Given the description of an element on the screen output the (x, y) to click on. 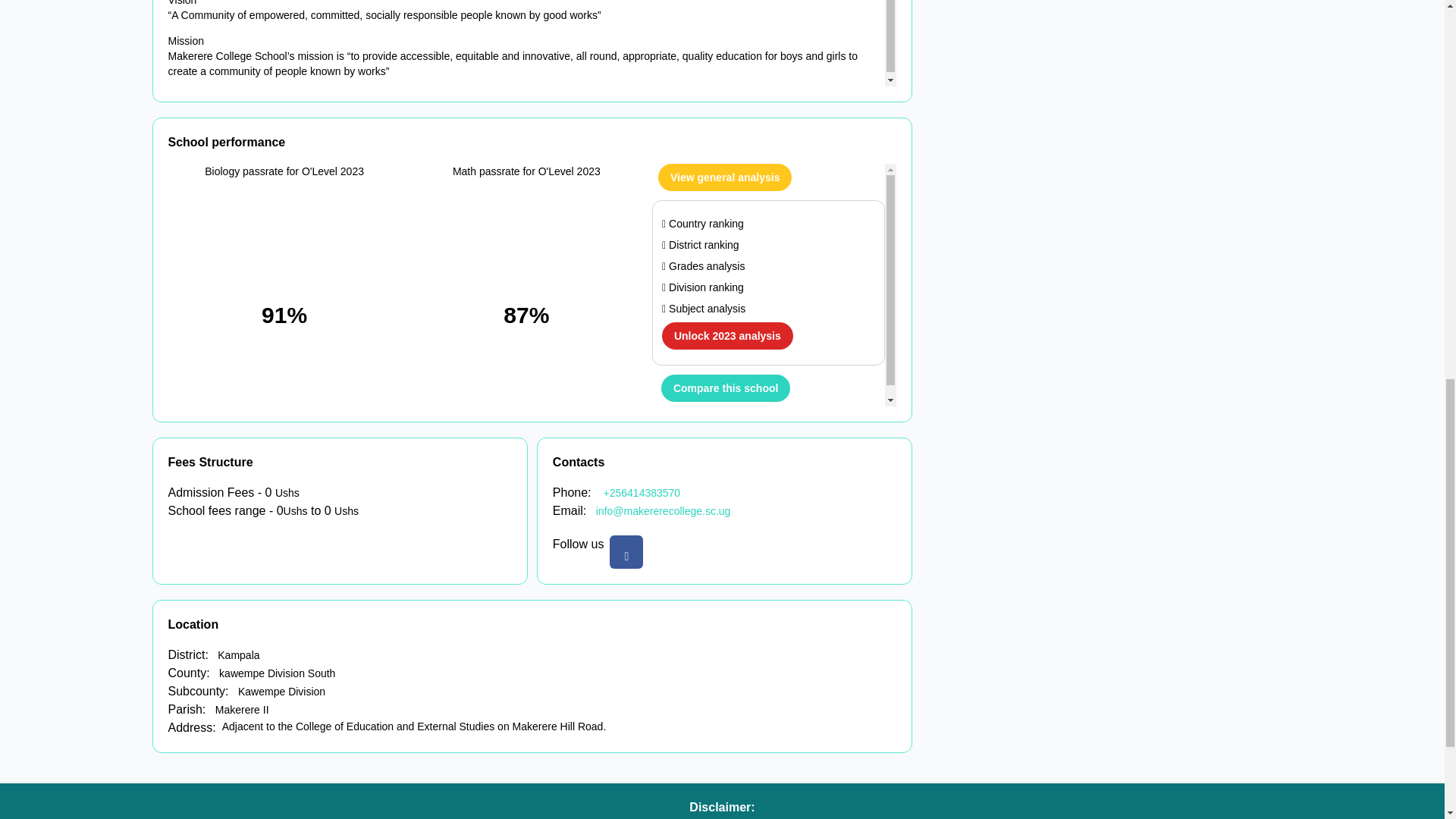
Unlock 2023 analysis (727, 336)
Unlock 2023 analysis (727, 335)
View general analysis (725, 176)
Compare this school (724, 387)
Compare this school (725, 388)
View general analysis (724, 177)
